Given the description of an element on the screen output the (x, y) to click on. 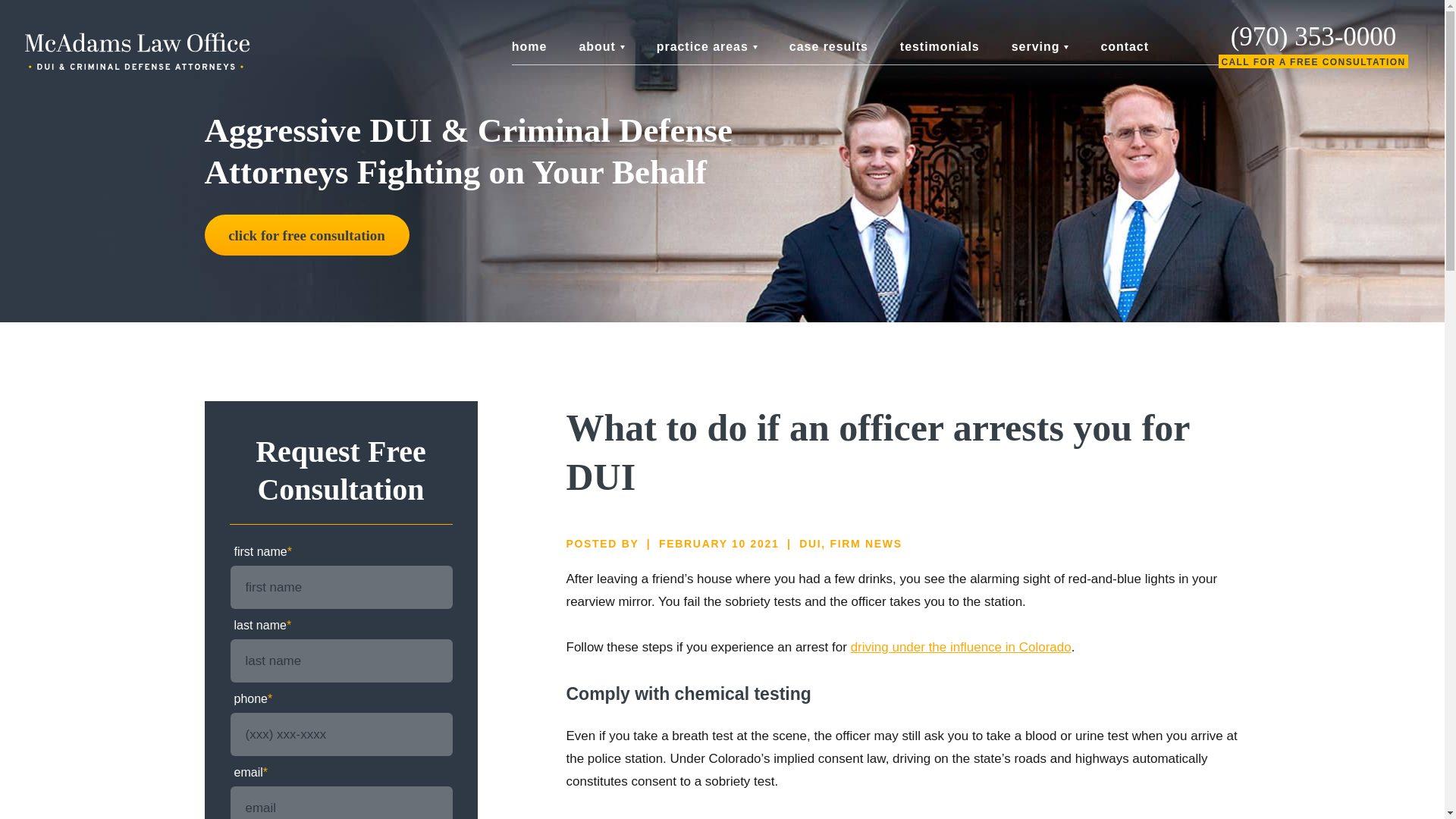
testimonials (939, 46)
contact (1124, 46)
case results (828, 46)
click for free consultation (307, 234)
serving (1039, 46)
DUI (810, 543)
about (601, 46)
FIRM NEWS (865, 543)
practice areas (706, 46)
driving under the influence in Colorado (960, 646)
